Given the description of an element on the screen output the (x, y) to click on. 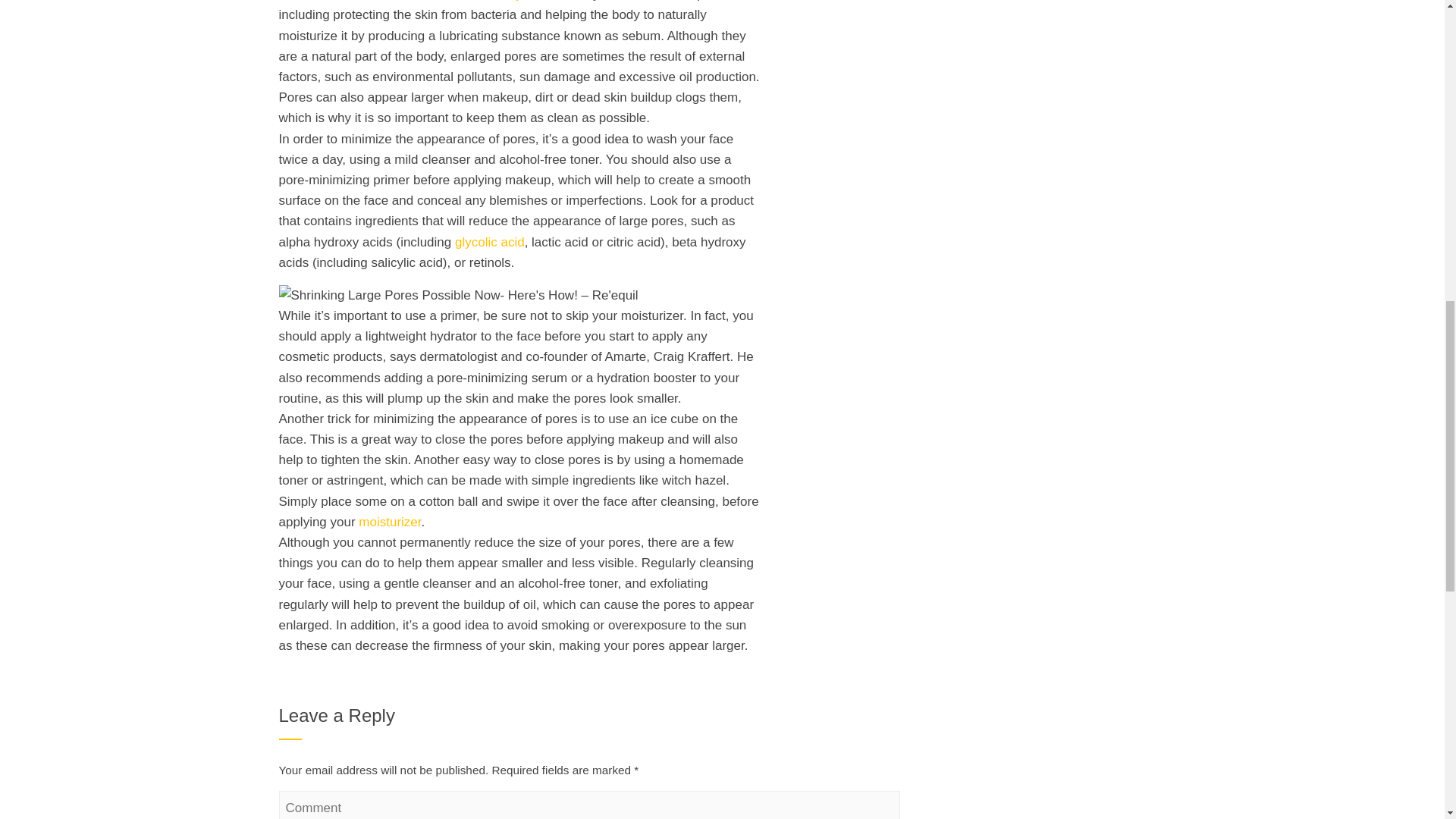
moisturizer (389, 522)
Beautyfoomall (522, 0)
glycolic acid (489, 242)
